Given the description of an element on the screen output the (x, y) to click on. 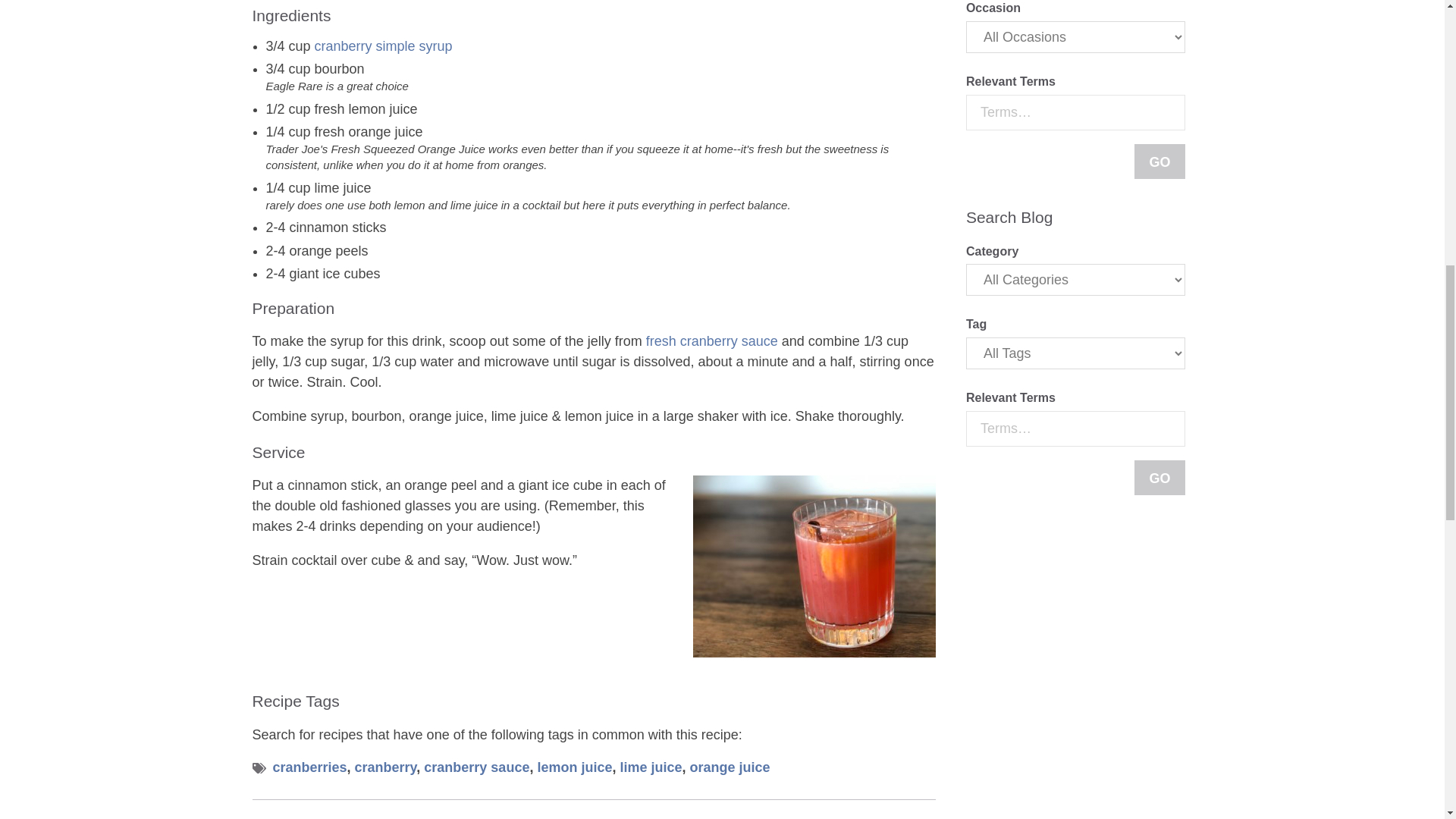
Go (1159, 477)
Go (1159, 477)
lime juice (650, 767)
orange juice (730, 767)
cranberries (310, 767)
Go (1159, 161)
cranberry sauce (476, 767)
cranberry simple syrup (383, 46)
fresh cranberry sauce (711, 340)
Go (1159, 161)
lemon juice (574, 767)
cranberry (385, 767)
